Given the description of an element on the screen output the (x, y) to click on. 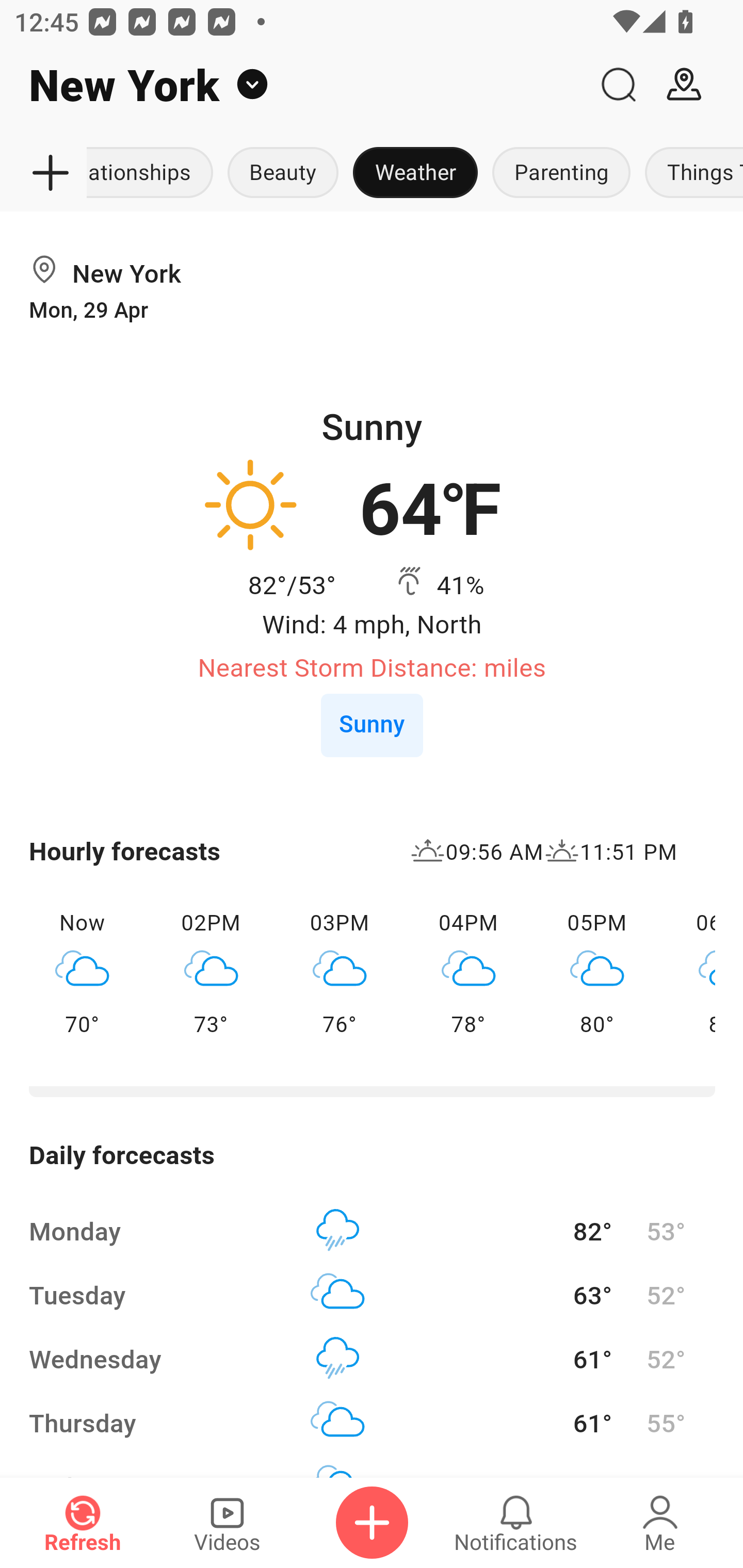
New York (292, 84)
Relationships (153, 172)
Beauty (282, 172)
Weather (415, 172)
Parenting (561, 172)
Things To Do (690, 172)
Videos (227, 1522)
Notifications (516, 1522)
Me (659, 1522)
